Given the description of an element on the screen output the (x, y) to click on. 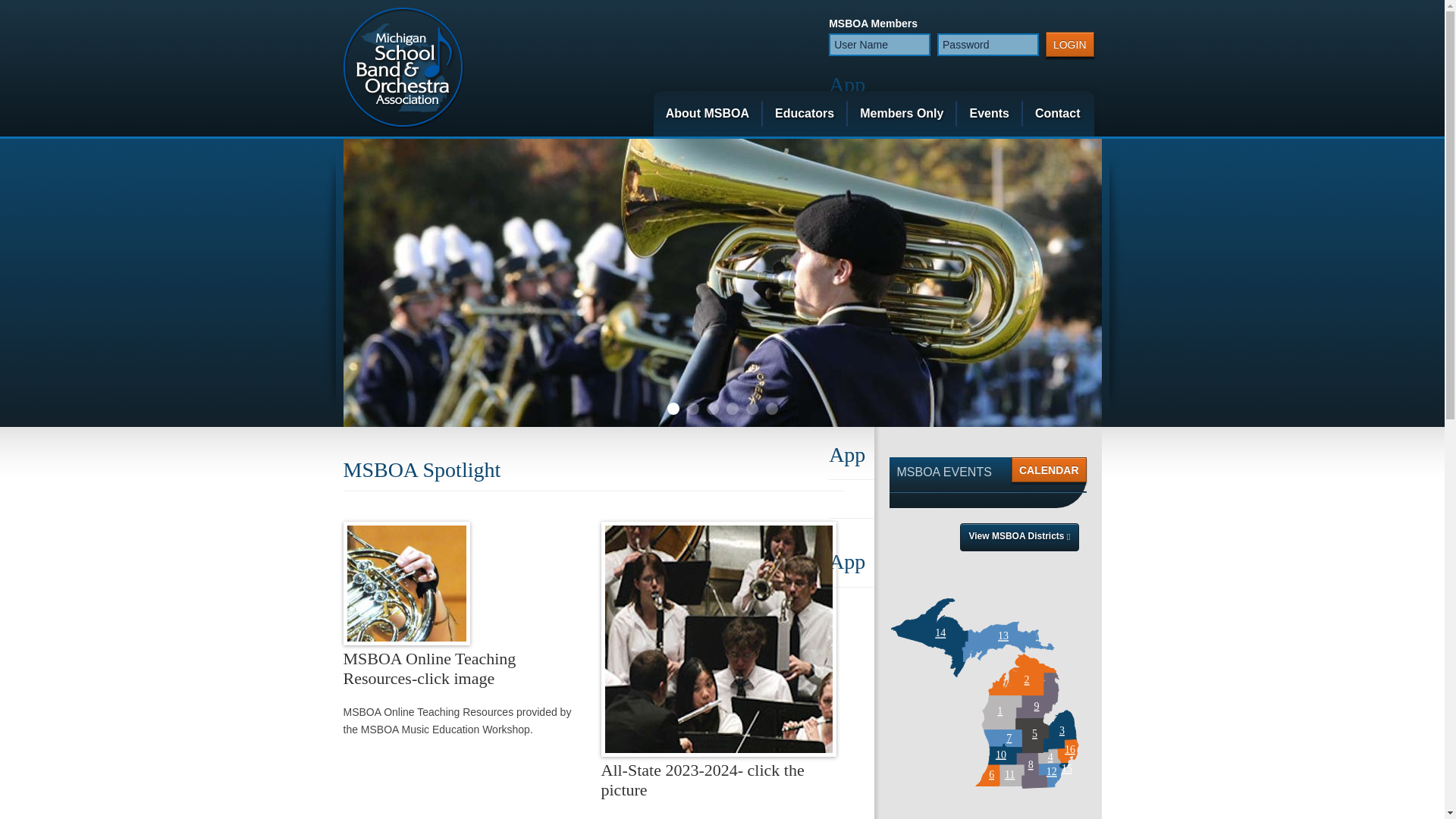
Login (1069, 43)
Login (1069, 43)
About MSBOA (707, 113)
Michigan High School Band and Orchestra Association (402, 67)
